Given the description of an element on the screen output the (x, y) to click on. 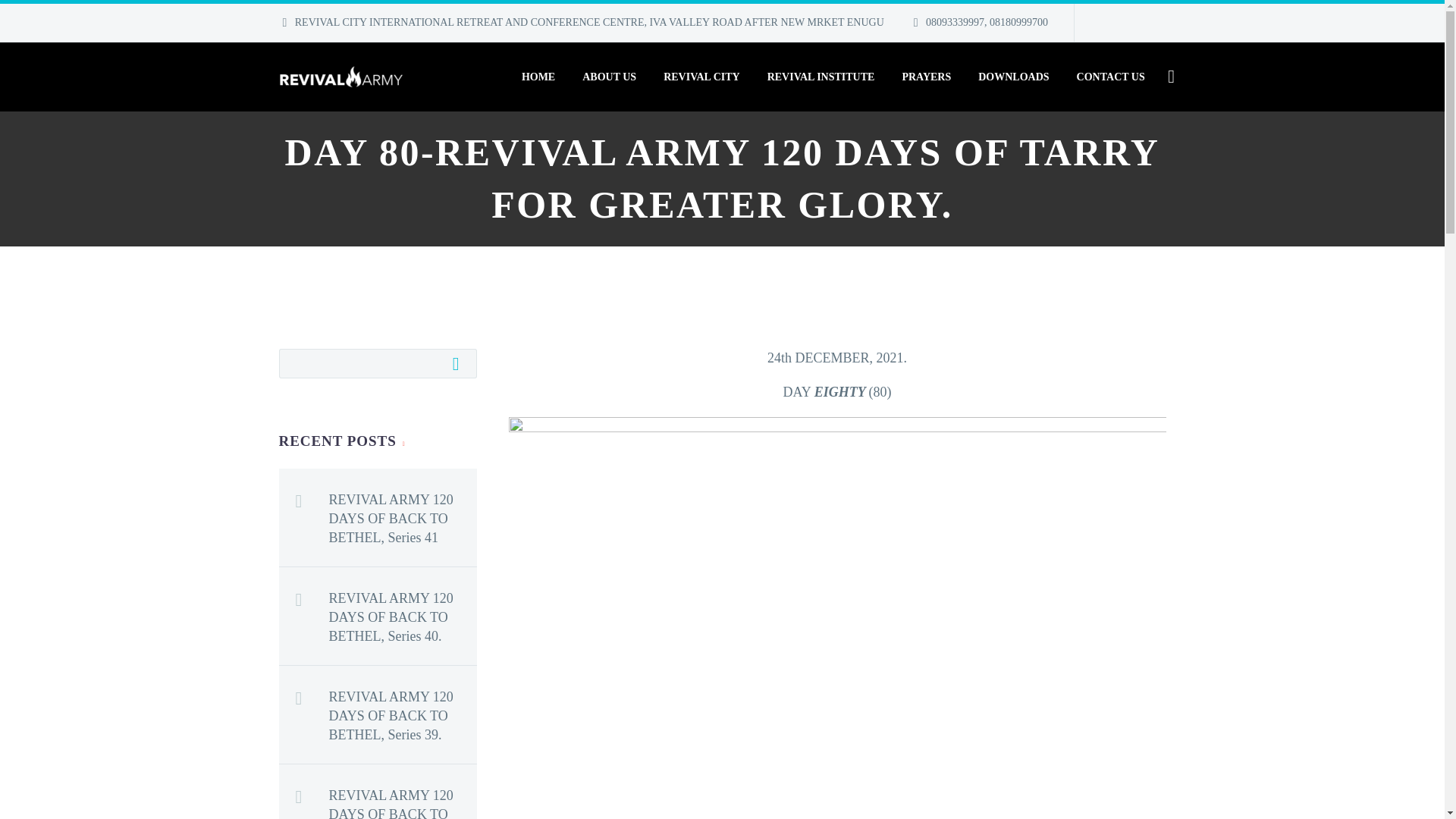
SEARCH (460, 362)
08093339997, 08180999700 (987, 21)
HOME (538, 76)
DOWNLOADS (1012, 76)
CONTACT US (1110, 76)
REVIVAL INSTITUTE (820, 76)
REVIVAL ARMY 120 DAYS OF BACK TO BETHEL, Series 36 (403, 799)
REVIVAL ARMY 120 DAYS OF BACK TO BETHEL, Series 39. (403, 712)
ABOUT US (608, 76)
REVIVAL CITY (701, 76)
